Given the description of an element on the screen output the (x, y) to click on. 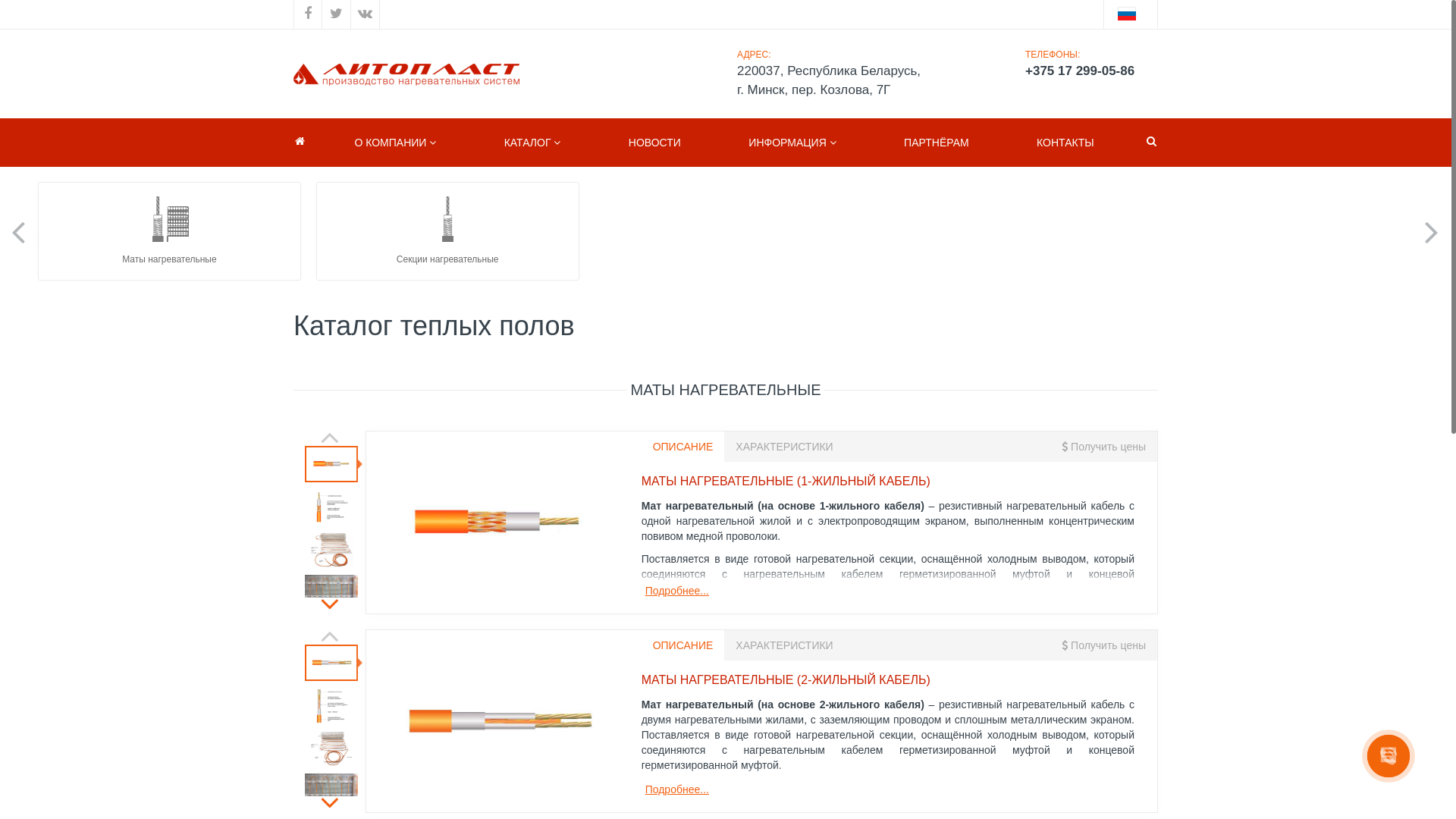
+375 17 299-05-86 Element type: text (1085, 70)
